Given the description of an element on the screen output the (x, y) to click on. 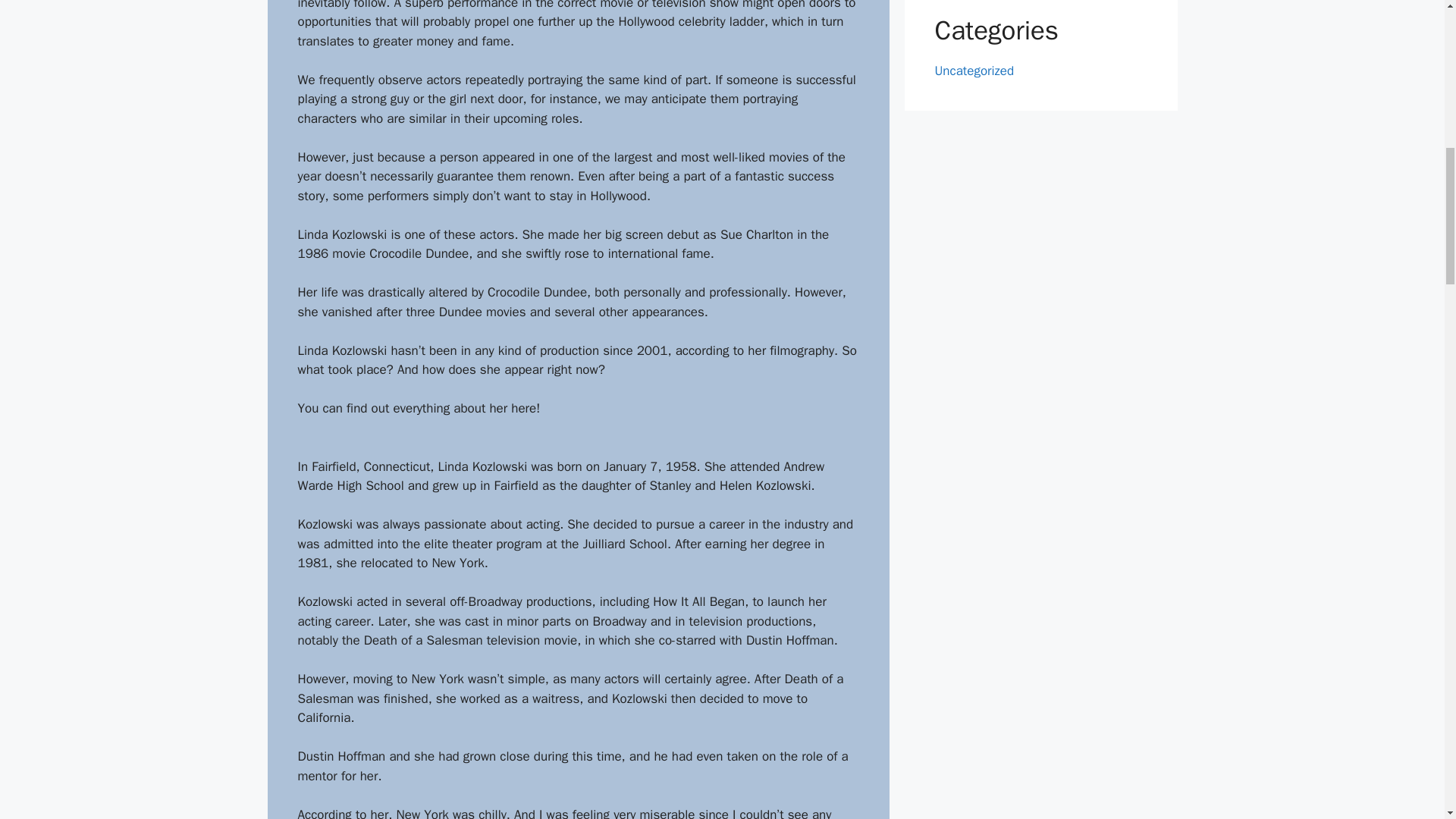
Uncategorized (973, 69)
